Given the description of an element on the screen output the (x, y) to click on. 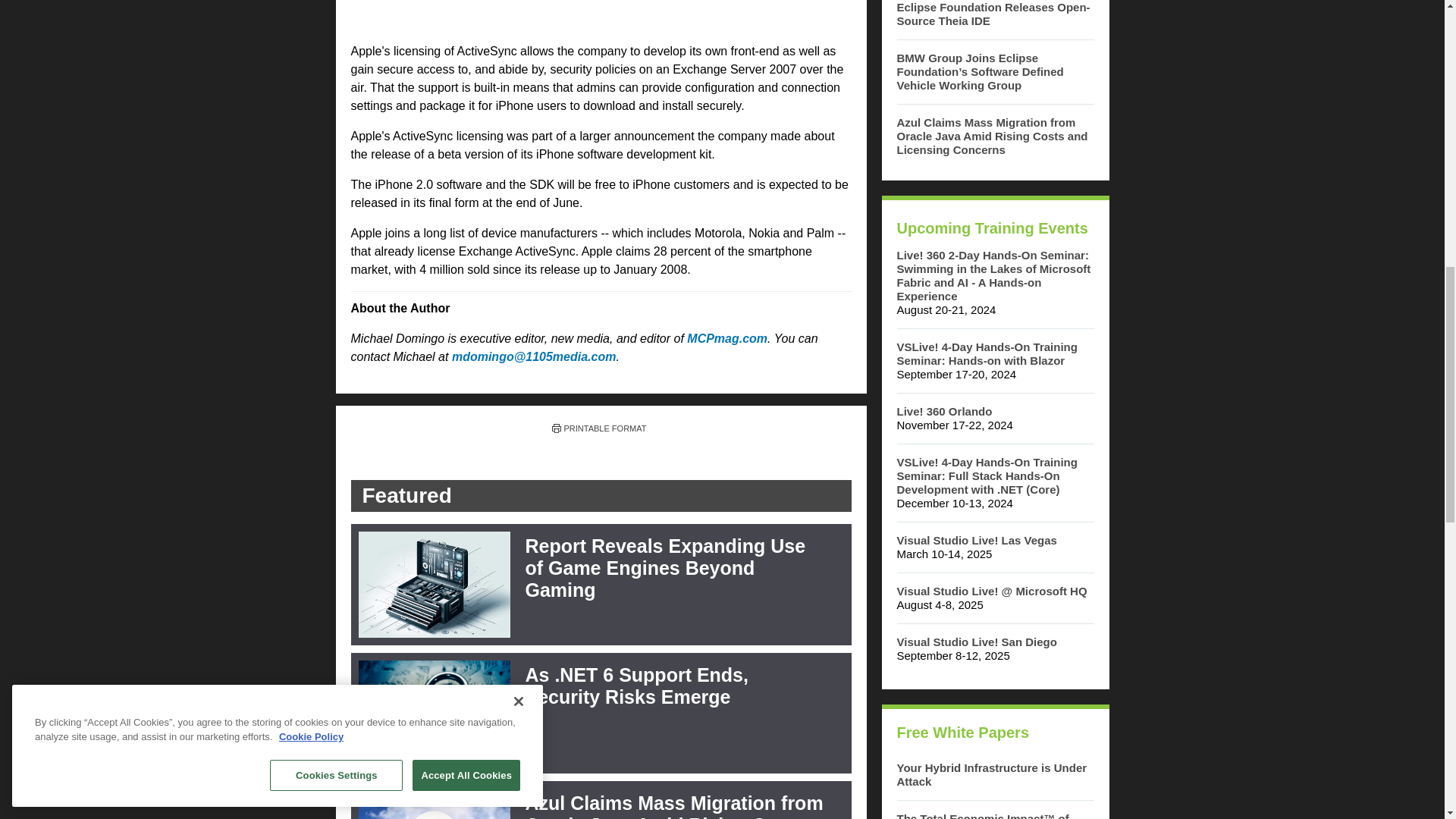
3rd party ad content (600, 15)
MCPmag.com (727, 338)
PRINTABLE FORMAT (598, 428)
